Given the description of an element on the screen output the (x, y) to click on. 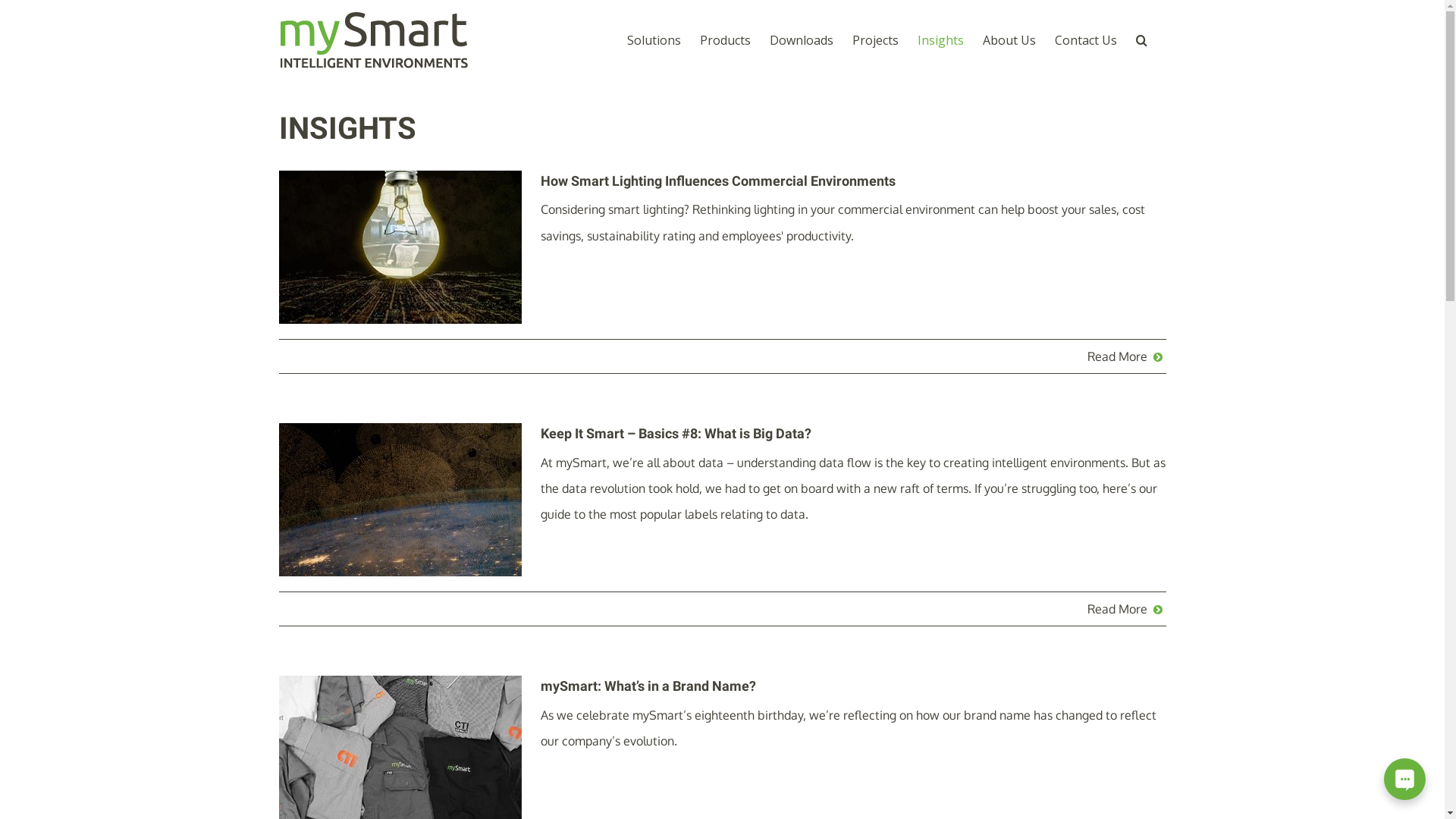
How Smart Lighting Influences Commercial Environments Element type: text (716, 180)
Search Element type: hover (1141, 39)
Read More Element type: text (1117, 608)
Contact Us Element type: text (1085, 39)
Products Element type: text (724, 39)
About Us Element type: text (1008, 39)
Solutions Element type: text (653, 39)
Projects Element type: text (875, 39)
Insights Element type: text (940, 39)
Downloads Element type: text (800, 39)
Read More Element type: text (1117, 356)
